Given the description of an element on the screen output the (x, y) to click on. 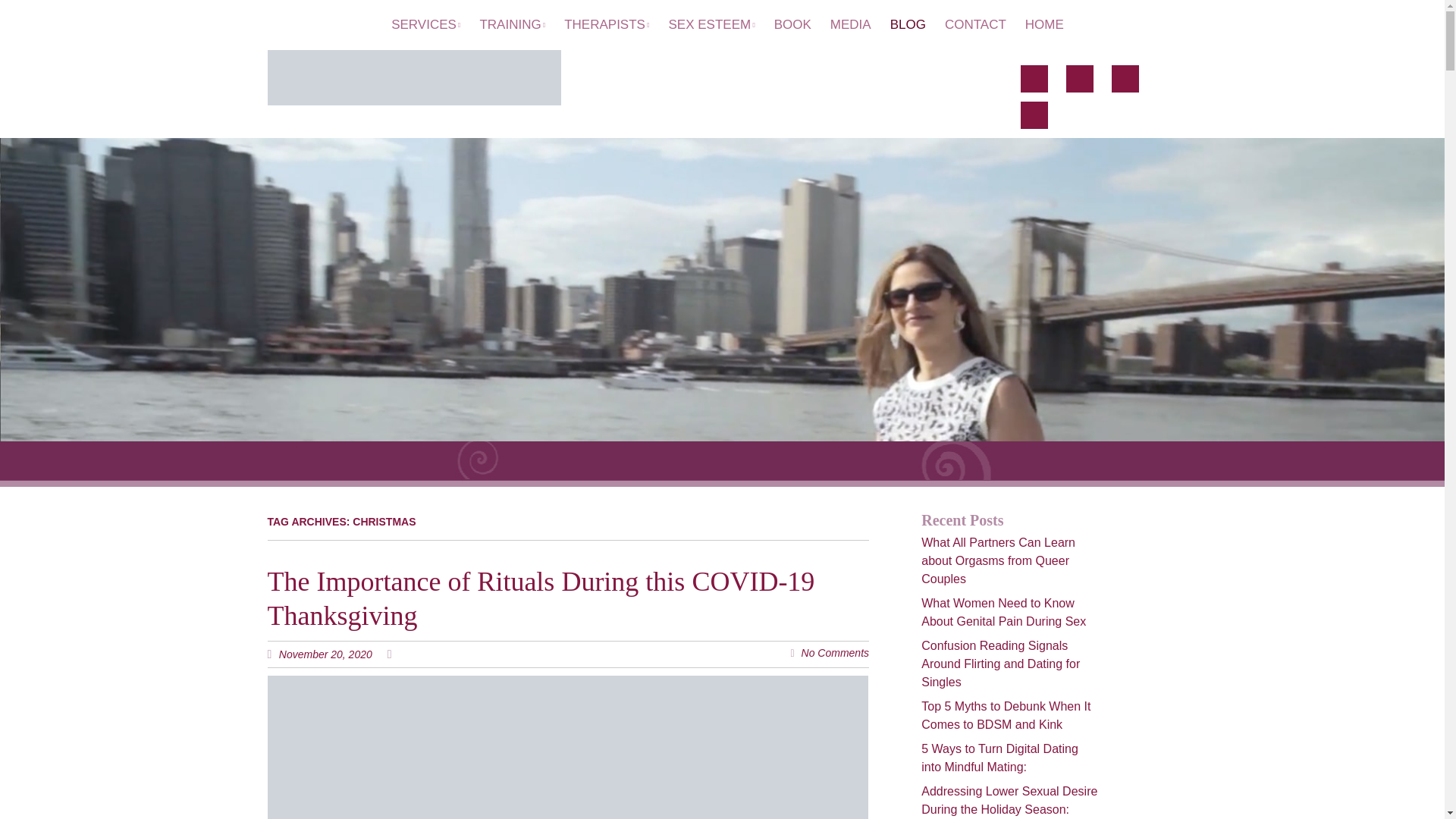
CONTACT (971, 25)
SERVICES (425, 25)
The Importance of Rituals During this COVID-19 Thanksgiving (539, 597)
THERAPISTS (602, 25)
MEDIA (846, 25)
HOME (1040, 25)
BOOK (787, 25)
BLOG (904, 25)
TRAINING (507, 25)
SEX ESTEEM (706, 25)
